Given the description of an element on the screen output the (x, y) to click on. 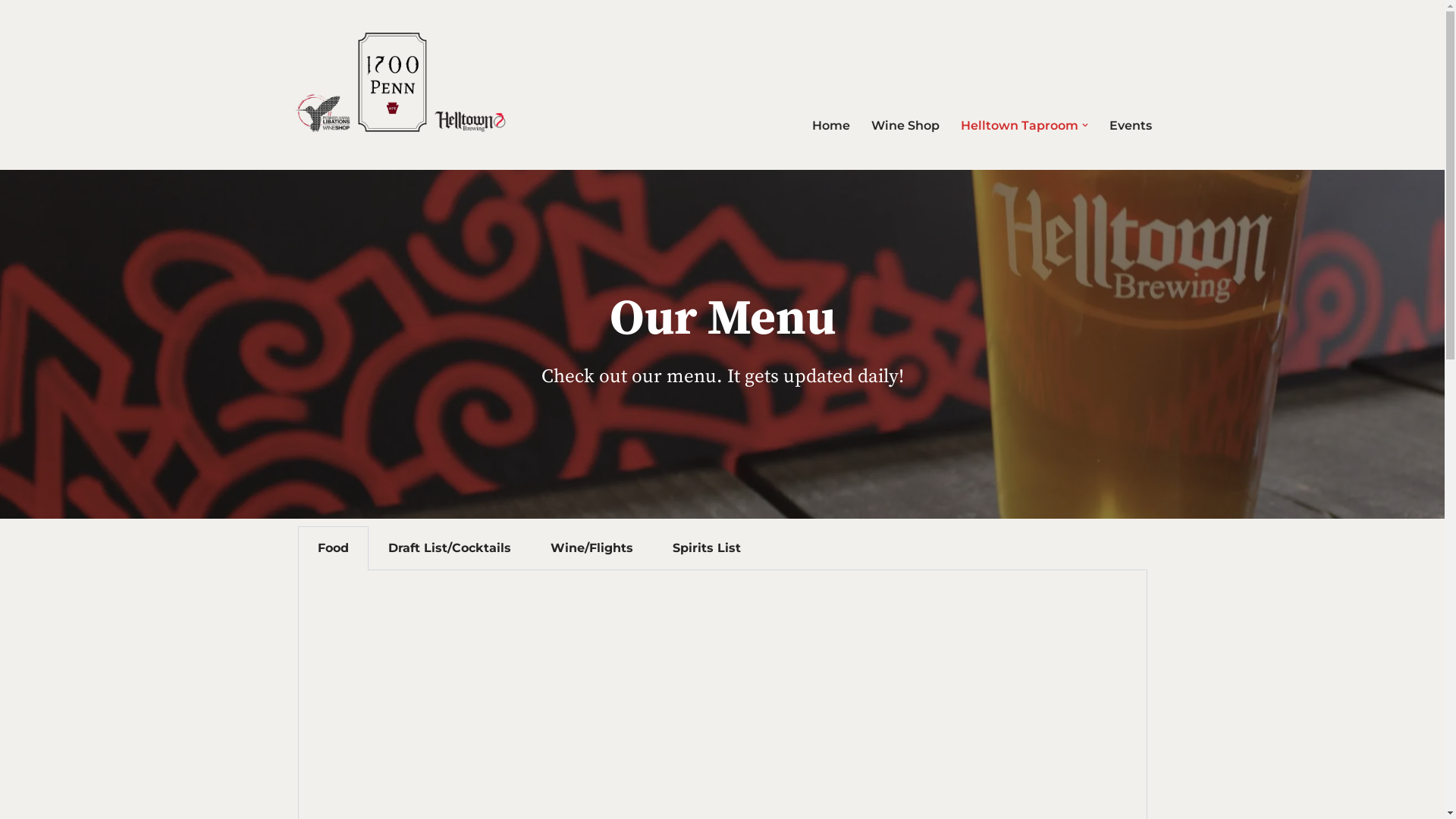
Wine Shop Element type: text (904, 125)
Home Element type: text (830, 125)
Events Element type: text (1129, 125)
Skip to content Element type: text (11, 31)
Helltown Taproom Element type: text (1018, 125)
